Given the description of an element on the screen output the (x, y) to click on. 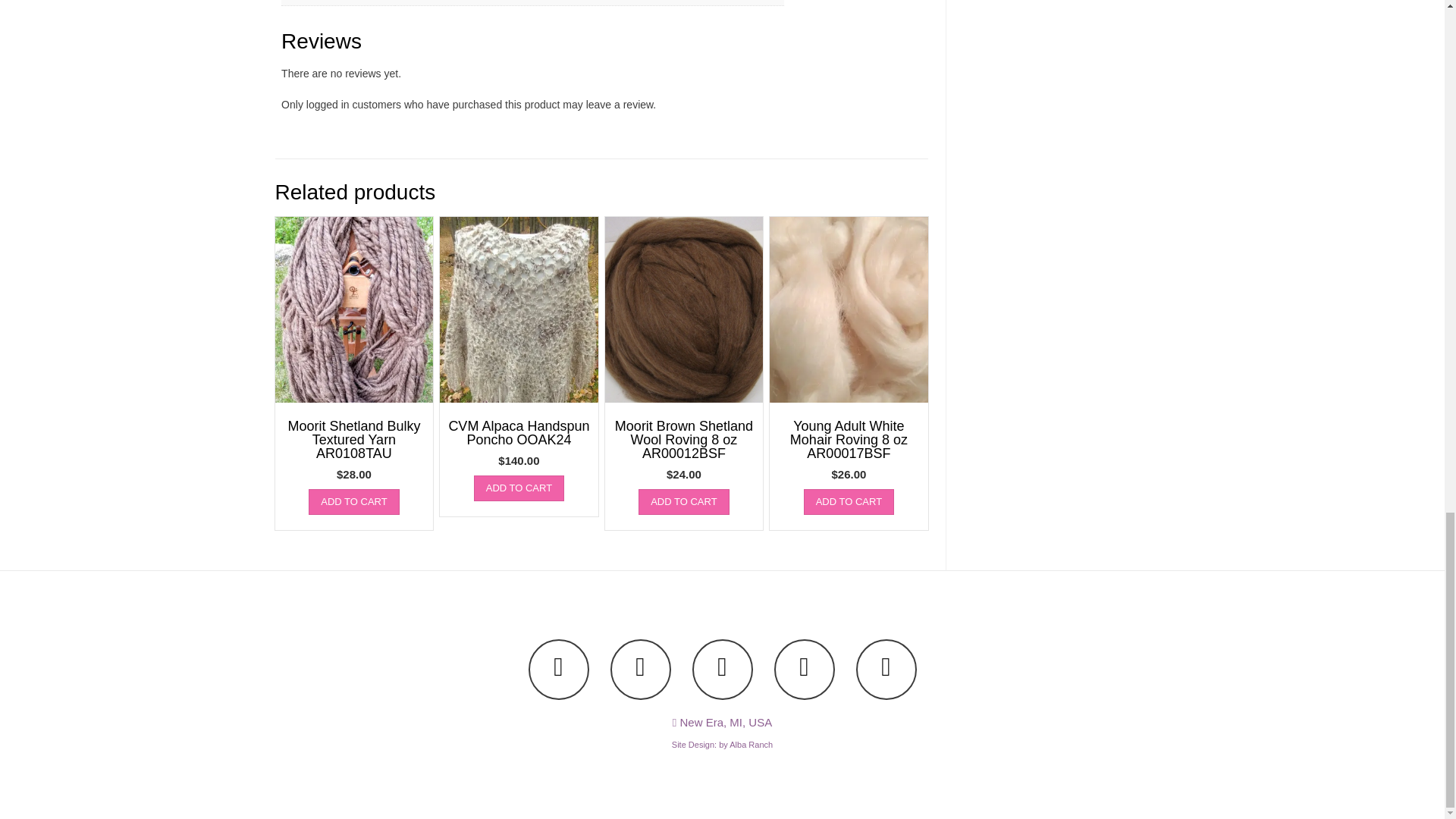
Find Us on Facebook (639, 669)
Pin Us on Pinterest (885, 669)
Follow Us on Instagram (803, 669)
View our YouTube Channel (721, 669)
Send Us an Email (557, 669)
